Given the description of an element on the screen output the (x, y) to click on. 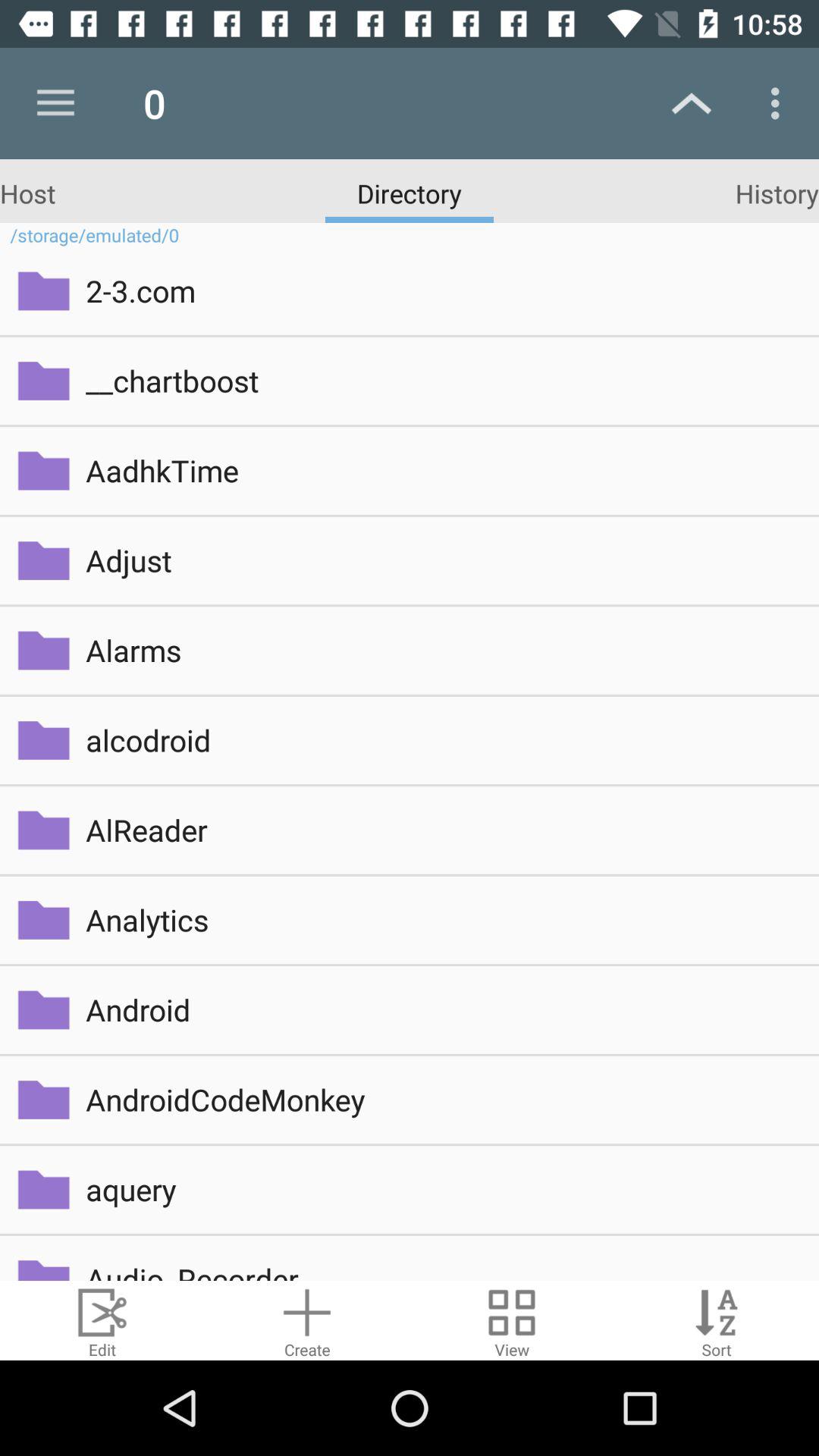
create file (306, 1320)
